Given the description of an element on the screen output the (x, y) to click on. 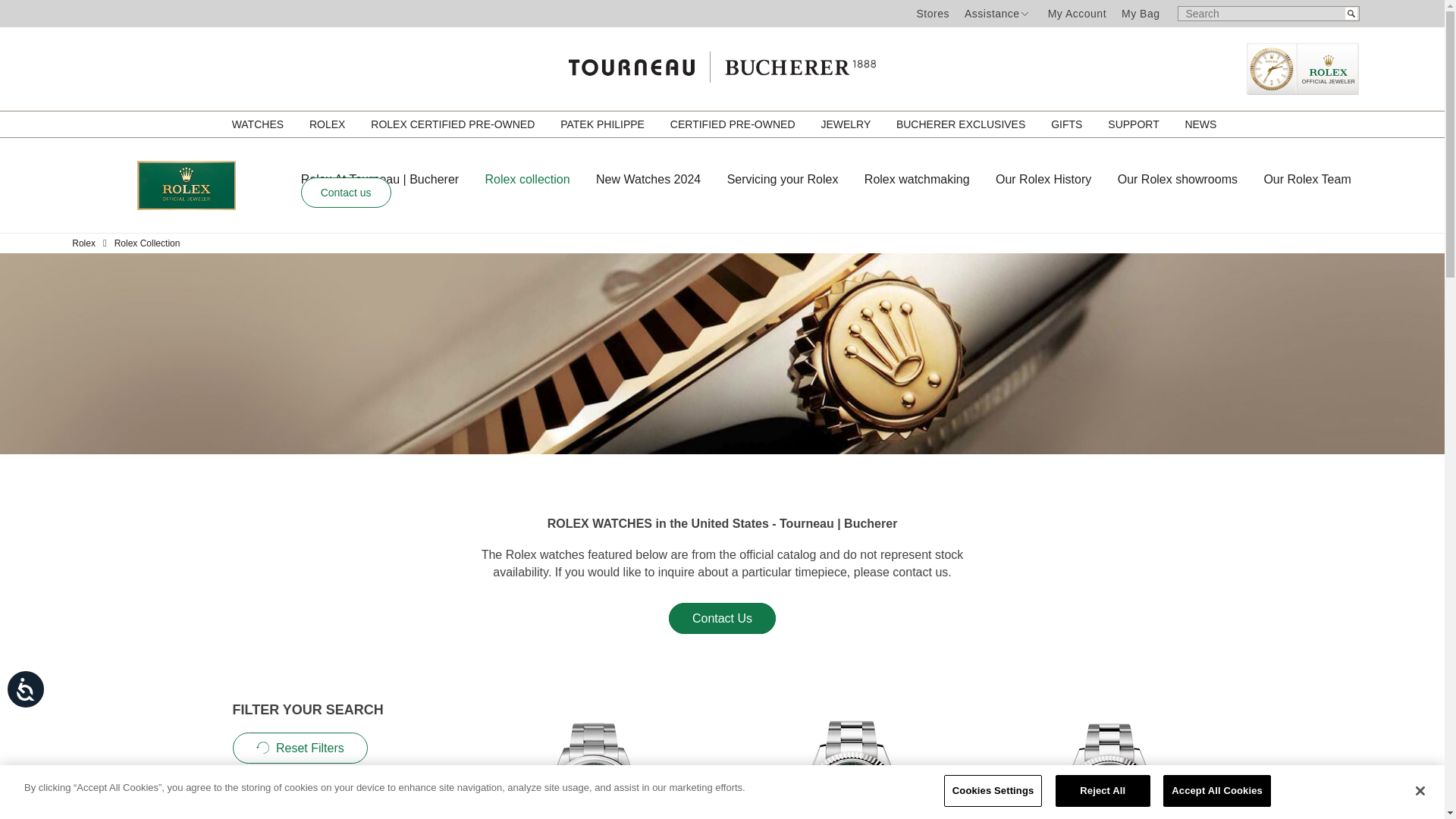
My Account (1077, 13)
Stores (932, 13)
Our Rolex Team (1318, 178)
go (1350, 13)
go (1350, 13)
ACCESSIBILITY (39, 703)
Assistance (991, 13)
Rolex collection (540, 178)
Servicing your Rolex (795, 178)
New Watches 2024 (660, 178)
WATCHES (259, 124)
Our Rolex showrooms (1190, 178)
Login (1077, 13)
Rolex Official Retailer (1301, 68)
Contact us (346, 192)
